Given the description of an element on the screen output the (x, y) to click on. 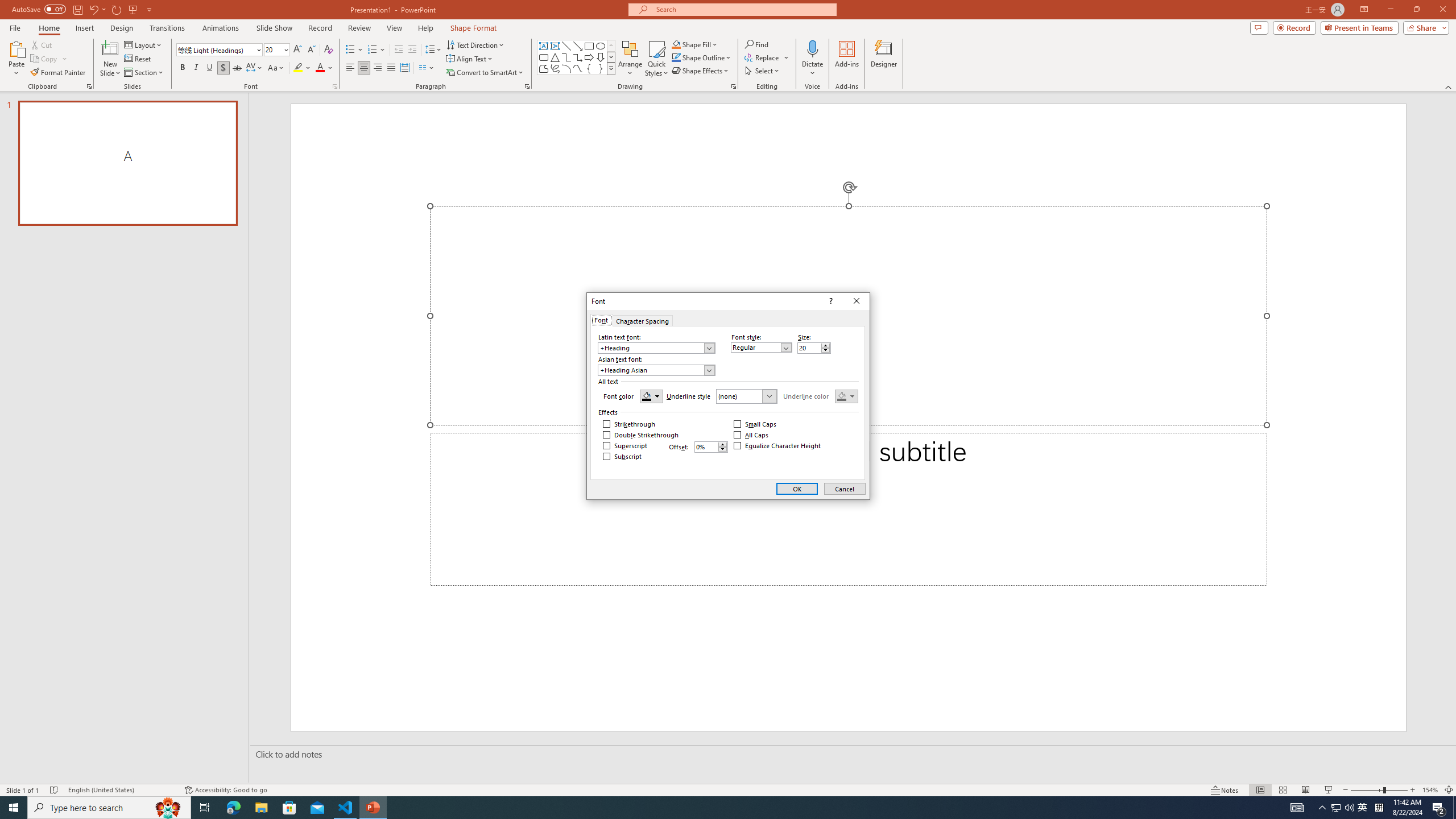
Context help (829, 301)
Small Caps (755, 424)
Equalize Character Height (777, 445)
